Given the description of an element on the screen output the (x, y) to click on. 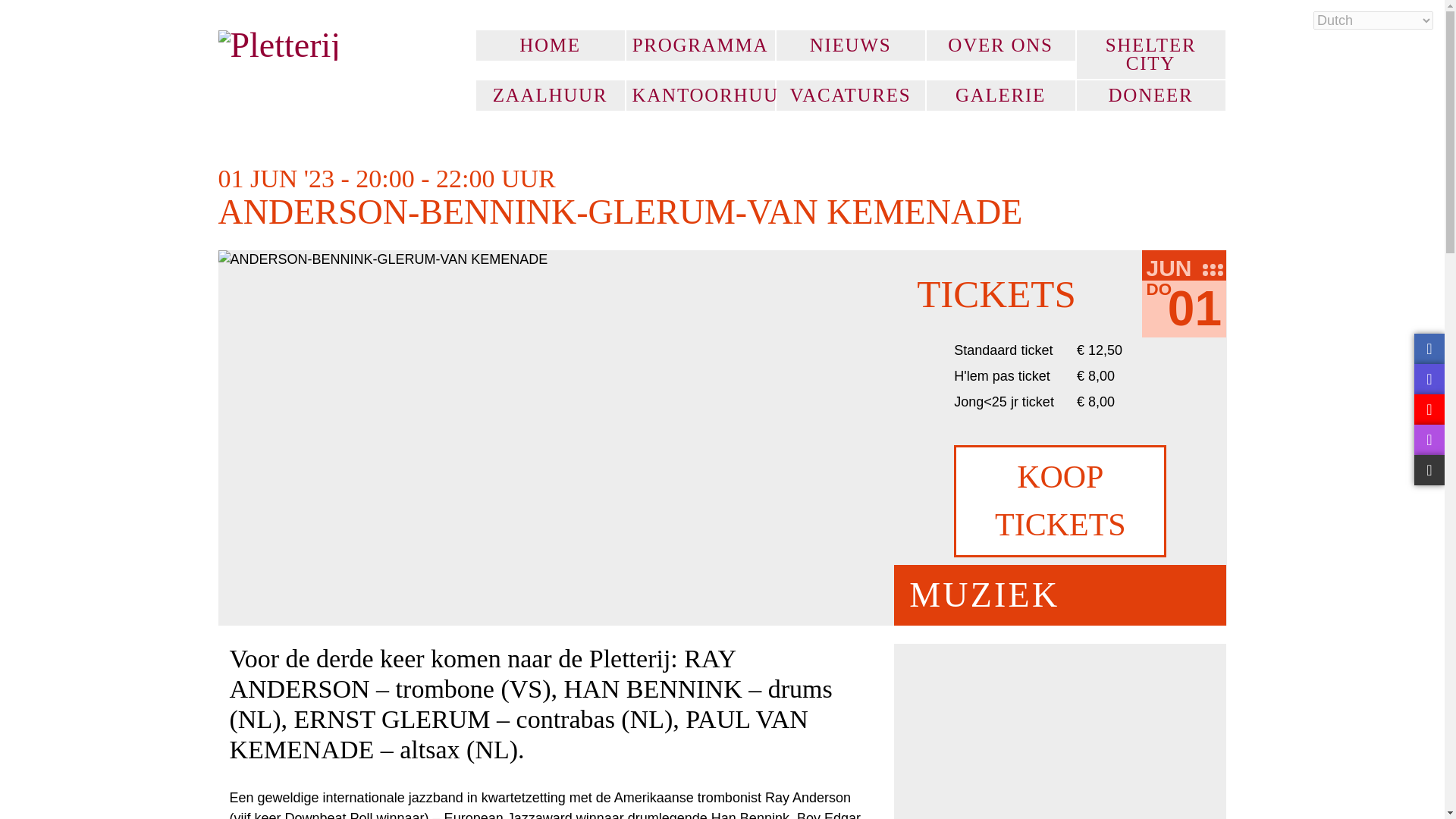
Pletterij (335, 45)
KOOP TICKETS (1059, 501)
VACATURES (850, 95)
OVER ONS (1000, 45)
HOME (550, 45)
GALERIE (1000, 95)
SHELTER CITY (1151, 54)
NIEUWS (850, 45)
ZAALHUUR (550, 95)
PROGRAMMA (700, 45)
